Given the description of an element on the screen output the (x, y) to click on. 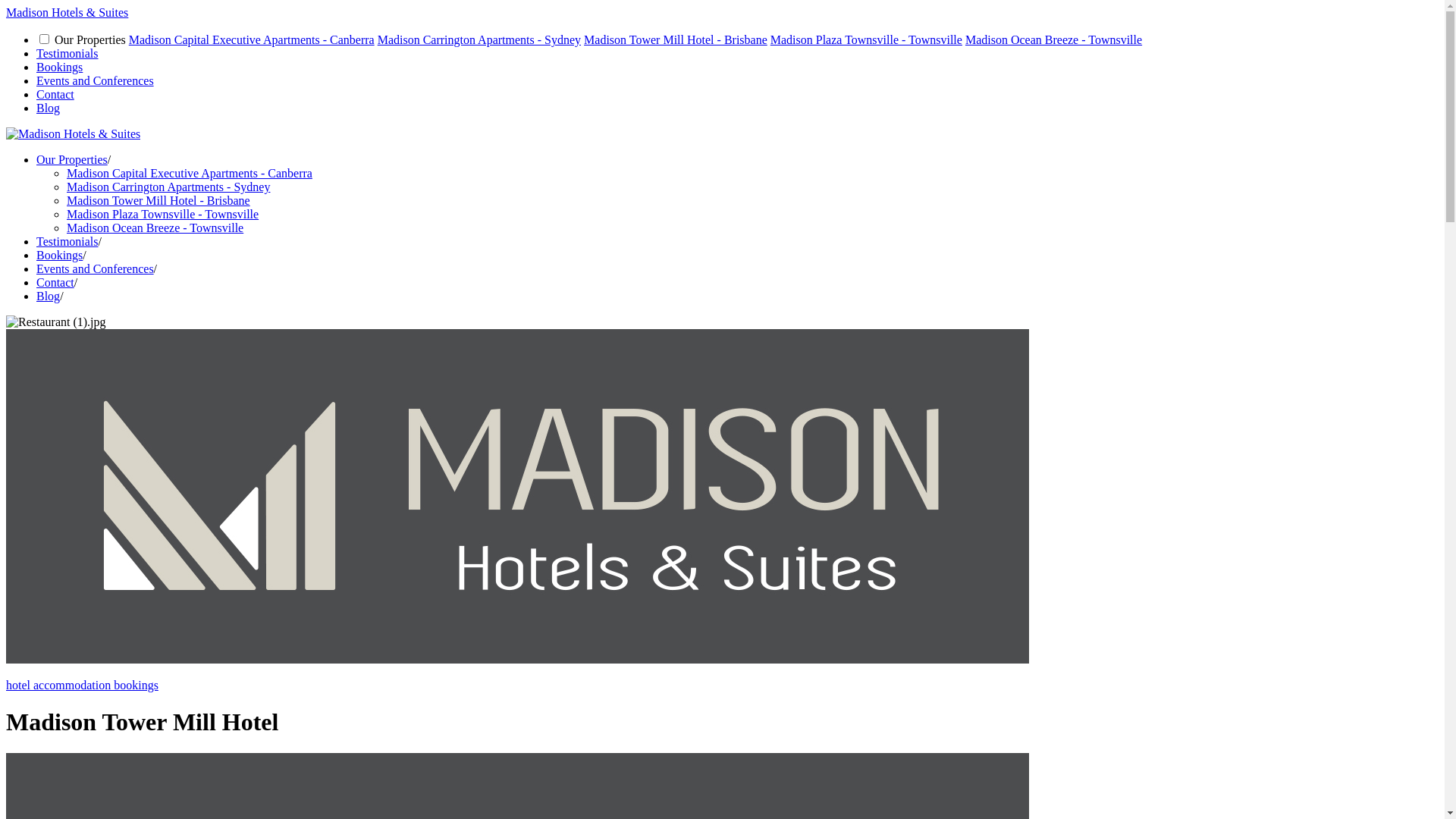
Events and Conferences Element type: text (94, 268)
Madison Hotels & Suites Element type: text (67, 12)
Bookings Element type: text (59, 254)
Madison Tower Mill Hotel - Brisbane Element type: text (675, 39)
Testimonials Element type: text (67, 53)
Madison Carrington Apartments - Sydney Element type: text (167, 186)
Blog Element type: text (47, 295)
Testimonials Element type: text (67, 241)
Blog Element type: text (47, 107)
Madison Capital Executive Apartments - Canberra Element type: text (189, 172)
Bookings Element type: text (59, 66)
Madison Plaza Townsville - Townsville Element type: text (162, 213)
Events and Conferences Element type: text (94, 80)
Madison Tower Mill Hotel - Brisbane Element type: text (158, 200)
Madison Capital Executive Apartments - Canberra Element type: text (251, 39)
Madison Ocean Breeze - Townsville Element type: text (1053, 39)
Madison Ocean Breeze - Townsville Element type: text (154, 227)
Our Properties Element type: text (71, 159)
Madison Carrington Apartments - Sydney Element type: text (478, 39)
Contact Element type: text (55, 282)
hotel accommodation bookings Element type: text (722, 672)
Madison Plaza Townsville - Townsville Element type: text (866, 39)
Contact Element type: text (55, 93)
